Given the description of an element on the screen output the (x, y) to click on. 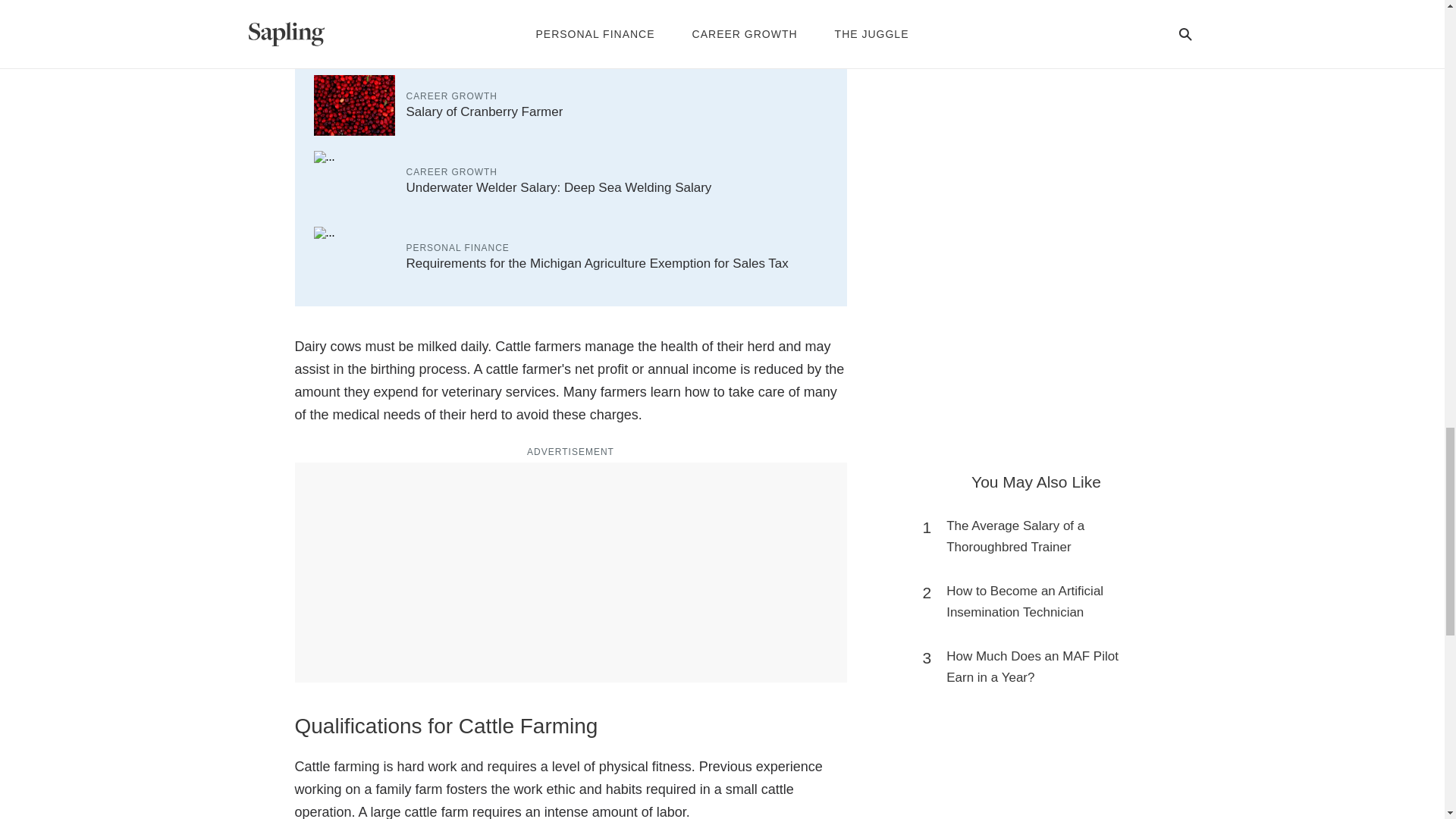
How to Become an Artificial Insemination Technician (1043, 601)
How Much Does an MAF Pilot Earn in a Year? (1043, 667)
The Average Salary of a Thoroughbred Trainer (1043, 536)
